Given the description of an element on the screen output the (x, y) to click on. 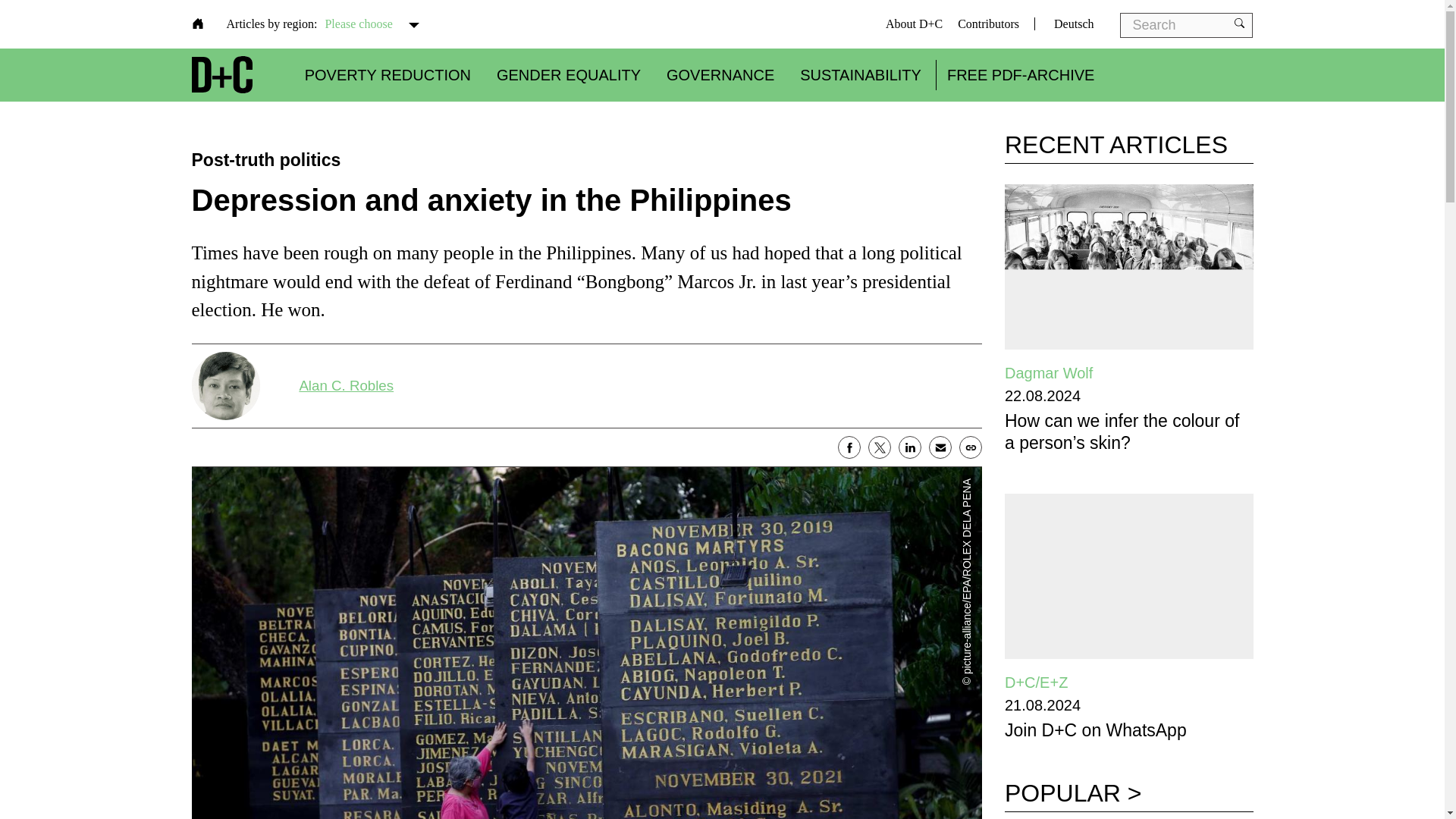
GENDER EQUALITY (568, 74)
Search (75, 20)
Contributors (988, 23)
linkedin (909, 446)
GOVERNANCE (720, 74)
link (970, 446)
POVERTY REDUCTION (387, 74)
SUSTAINABILITY (860, 74)
facebook (849, 446)
